Given the description of an element on the screen output the (x, y) to click on. 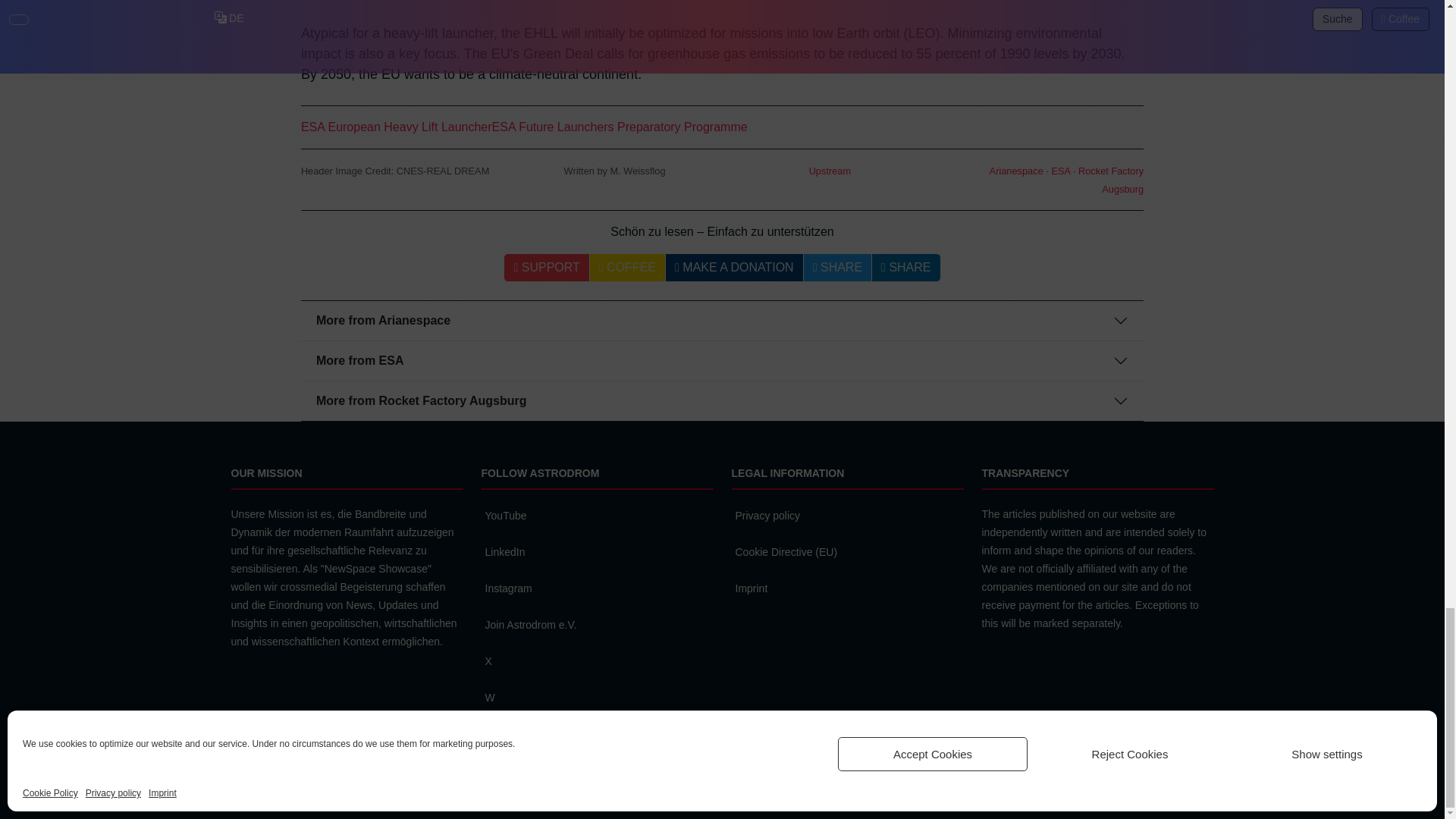
ESA Future Launchers Preparatory Programme (620, 126)
ESA European Heavy Lift Launcher (396, 126)
View all posts in Arianespace (1016, 170)
Upstream (829, 170)
View all posts in ESA (1060, 170)
View all posts in Rocket Factory Augsburg (1110, 179)
